Given the description of an element on the screen output the (x, y) to click on. 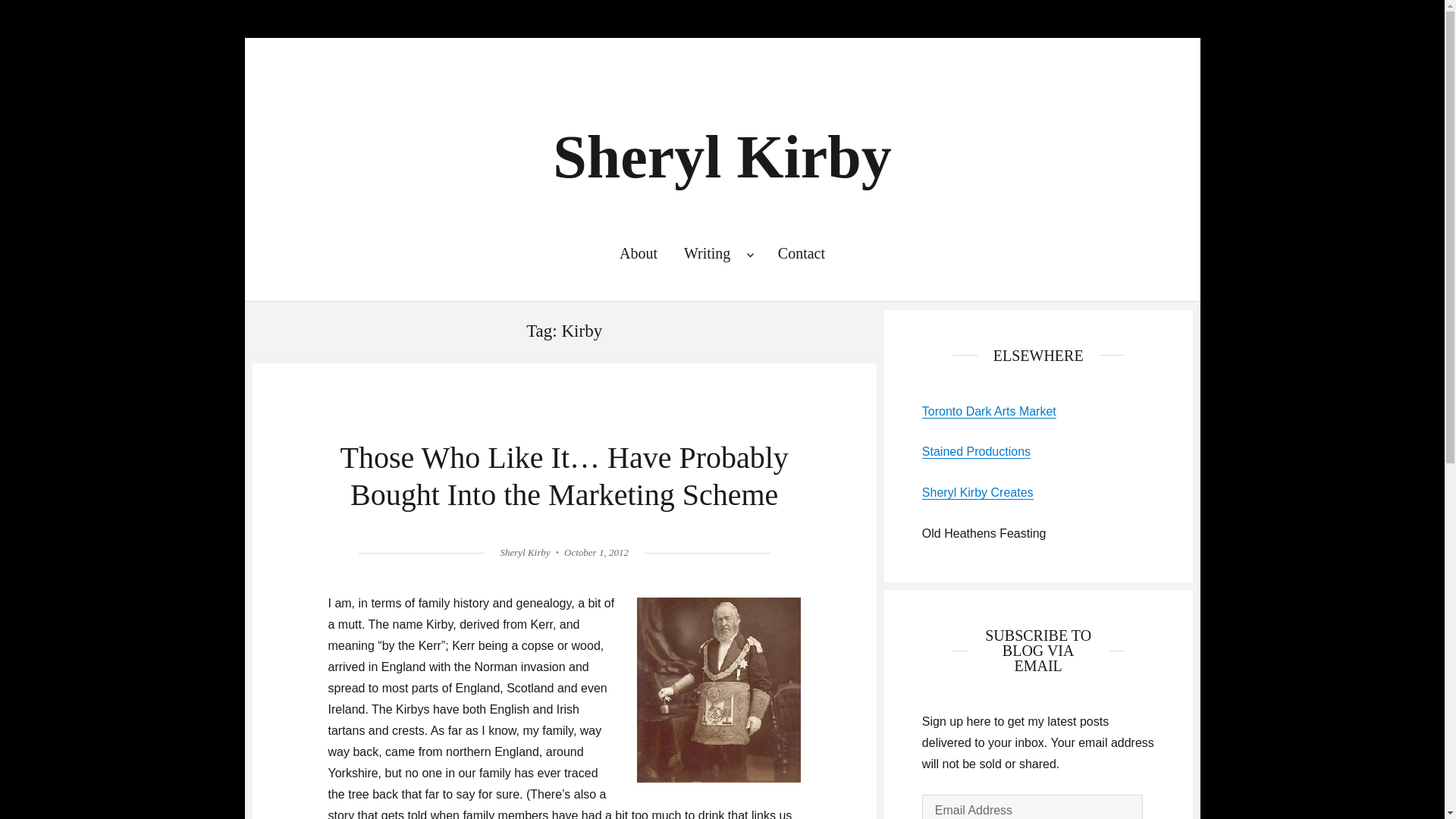
Sheryl Kirby (524, 552)
October 1, 2012 (596, 552)
About (637, 253)
Sheryl Kirby Creates (977, 492)
Writing (716, 253)
Contact (801, 253)
Stained Productions (975, 451)
Sheryl Kirby (722, 156)
Toronto Dark Arts Market (989, 410)
